Given the description of an element on the screen output the (x, y) to click on. 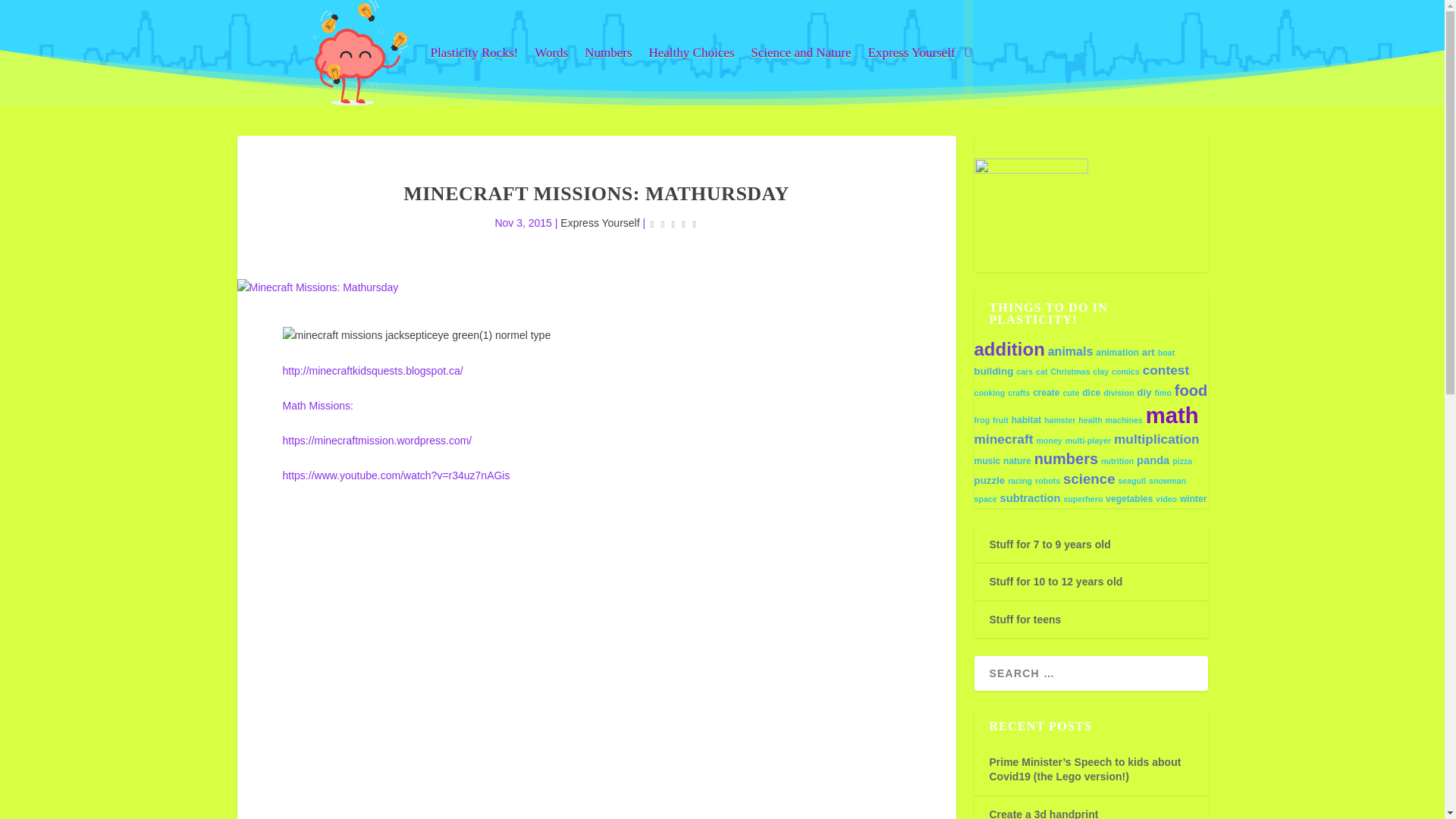
animation (1117, 352)
animals (1070, 350)
art (1147, 351)
Science and Nature (800, 52)
Rating: 0.00 (672, 223)
Express Yourself (599, 223)
addition (1008, 349)
